Given the description of an element on the screen output the (x, y) to click on. 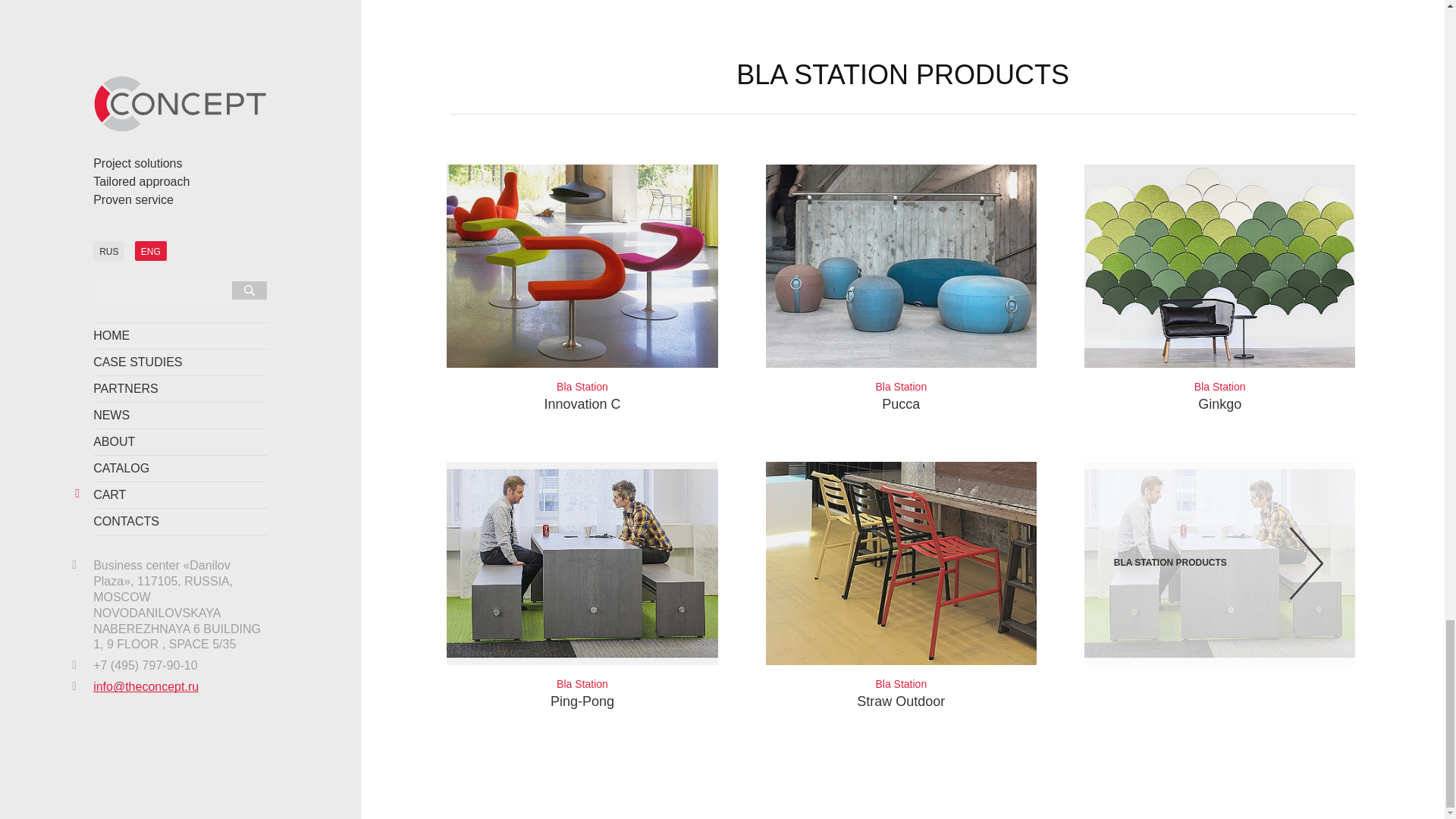
BLA STATION PRODUCTS (900, 288)
